Given the description of an element on the screen output the (x, y) to click on. 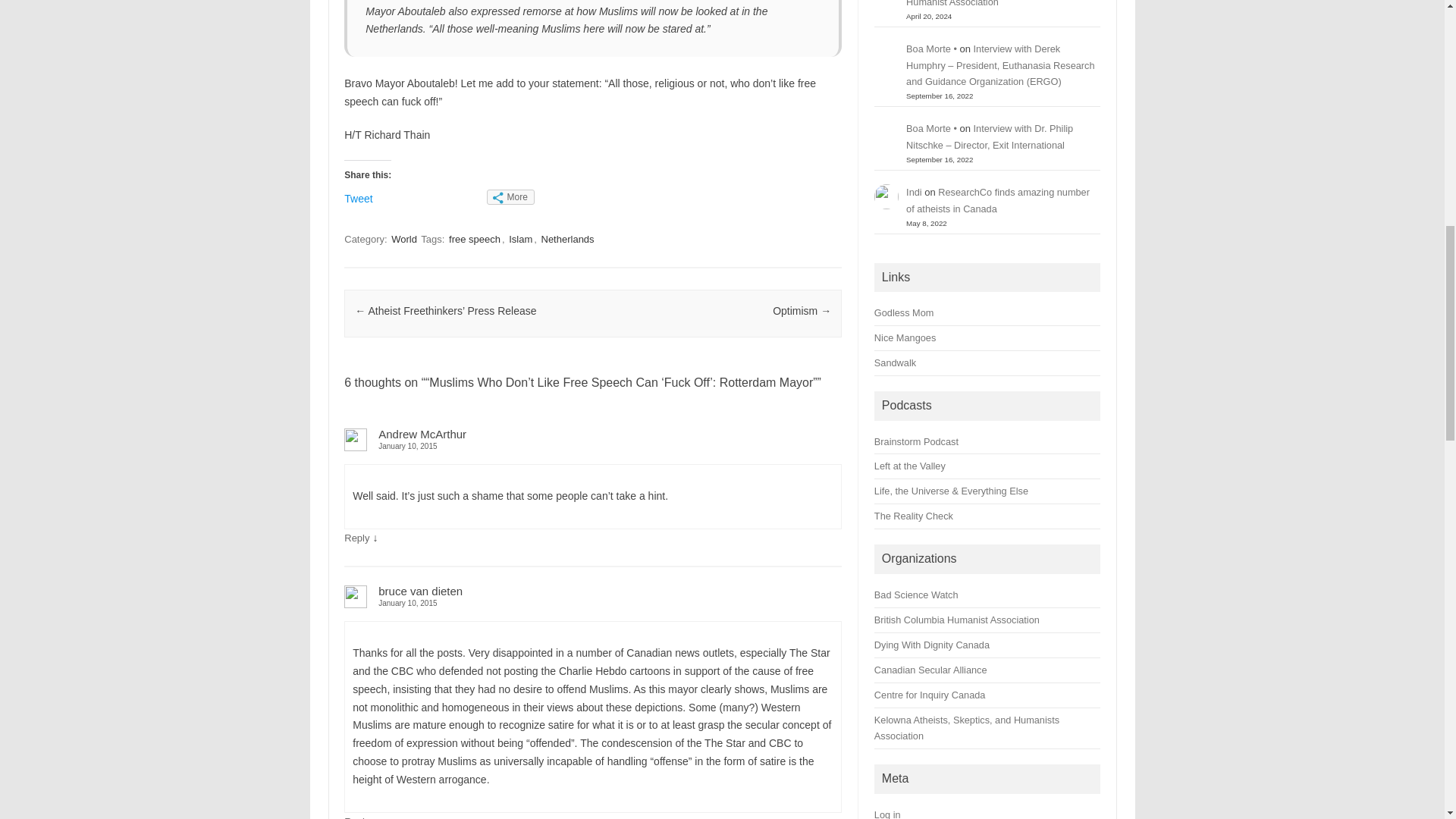
January 10, 2015 (592, 445)
free speech (474, 238)
Islam (520, 238)
More (510, 196)
Reply (356, 817)
Tweet (357, 198)
Reply (356, 537)
Andrew McArthur (421, 433)
January 10, 2015 (592, 603)
World (404, 238)
